Given the description of an element on the screen output the (x, y) to click on. 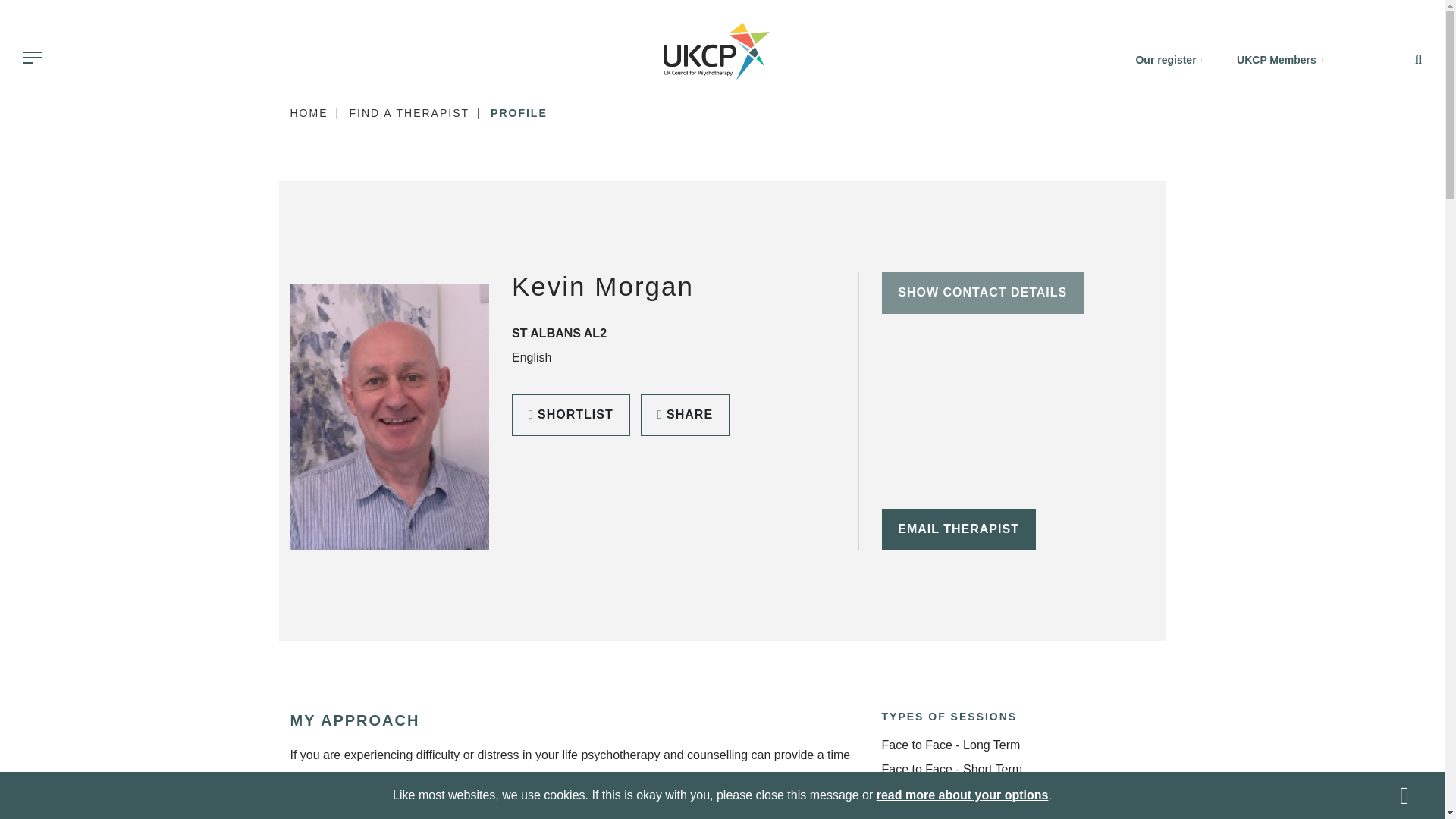
Privacy (962, 794)
Our register (1168, 59)
UKCP Members (1279, 59)
